Given the description of an element on the screen output the (x, y) to click on. 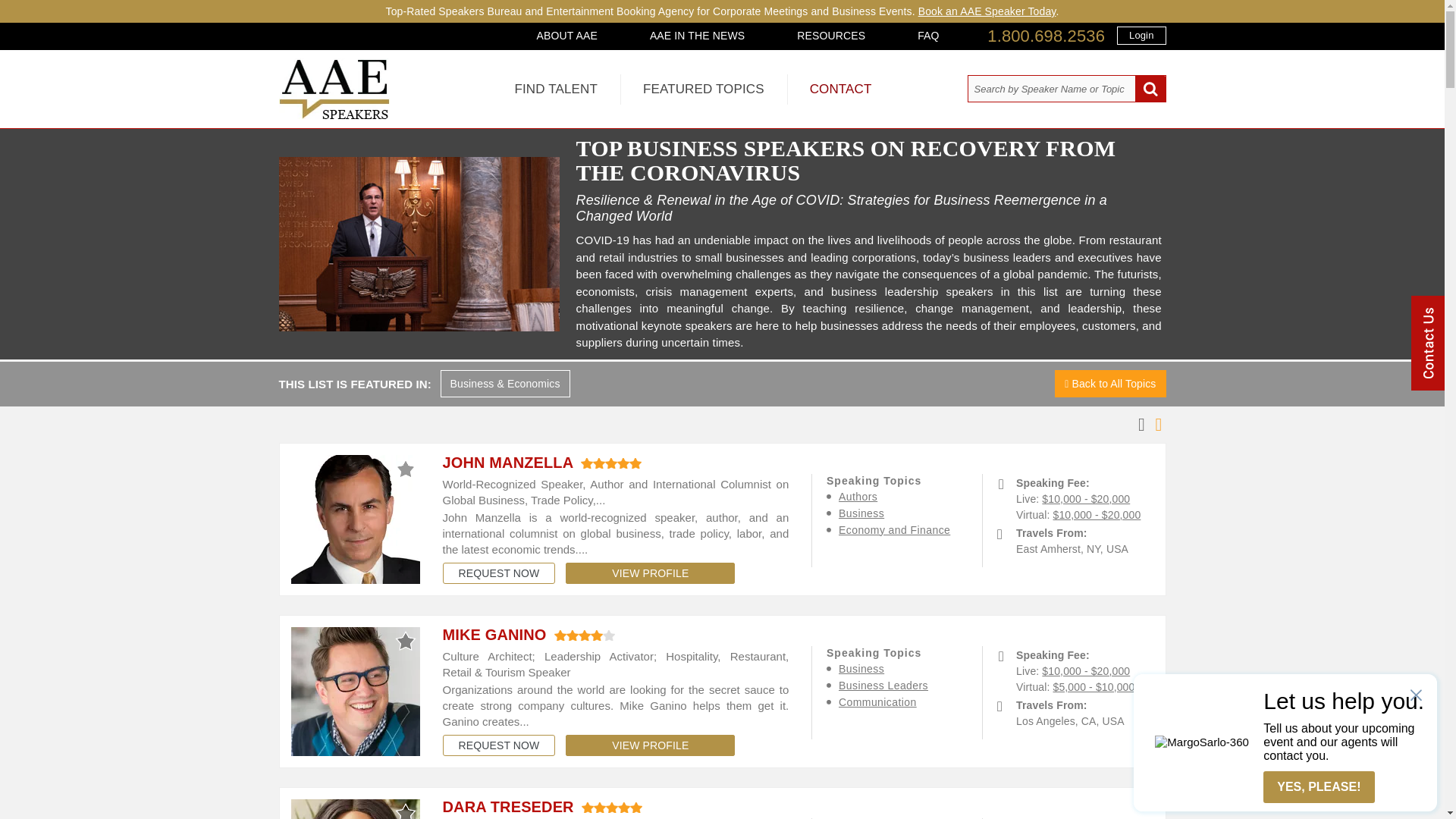
AAE IN THE NEWS (697, 34)
ABOUT AAE (566, 34)
FAQ (927, 34)
RESOURCES (830, 34)
1.800.698.2536 (1046, 35)
Book an AAE Speaker Today (987, 10)
COVID-19 Crisis Management Business Speakers (419, 244)
Search (1150, 89)
All American Speakers Bureau and Celebrity Booking Agency (334, 116)
Login (1141, 35)
